Given the description of an element on the screen output the (x, y) to click on. 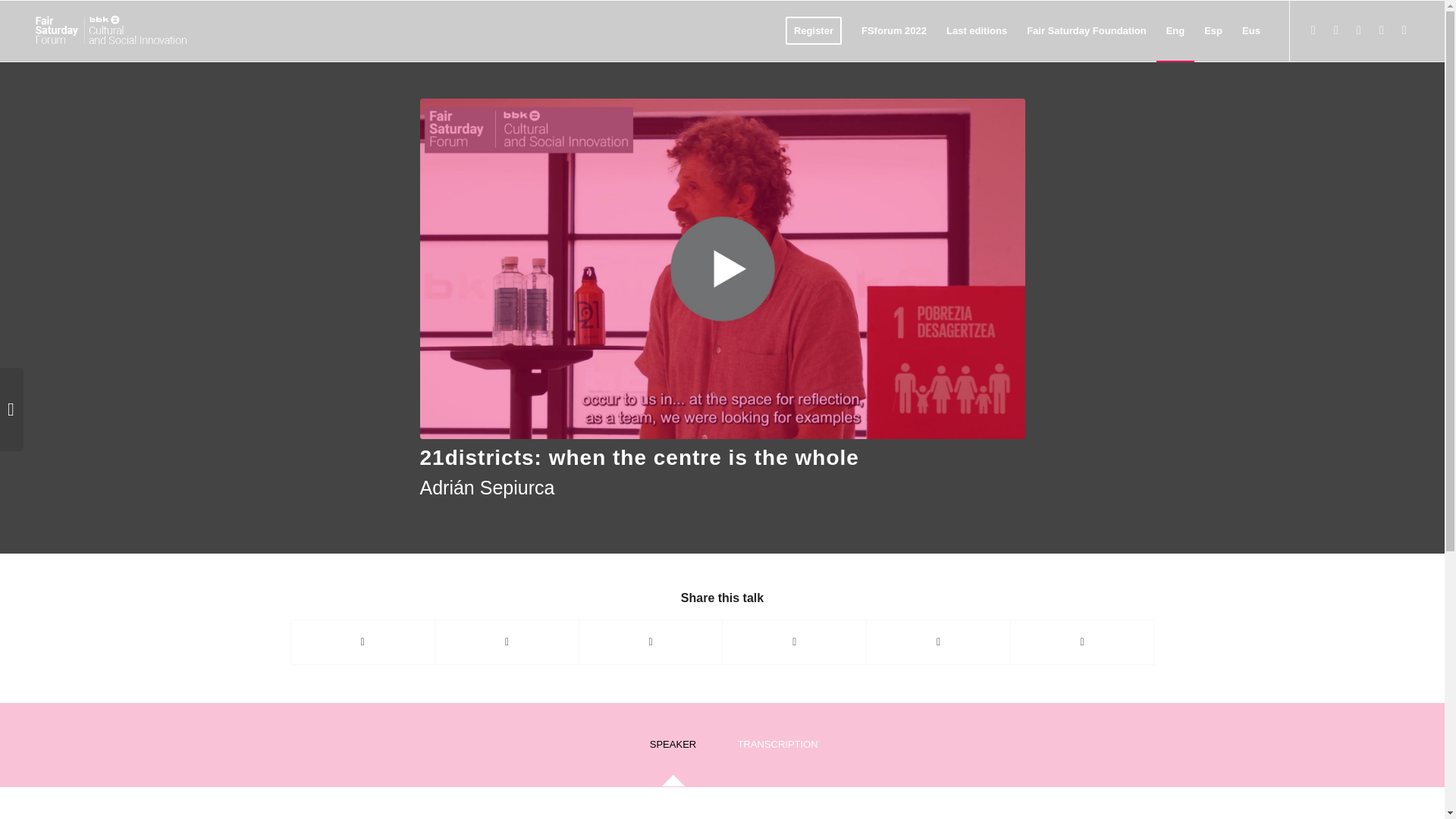
SPEAKER (672, 749)
TRANSCRIPTION (771, 749)
Eng (1175, 30)
Fair Saturday Foundation (1086, 30)
Register (813, 30)
Esp (1212, 30)
Eng (1175, 30)
FSforum 2022 (893, 30)
Facebook (1336, 29)
Last editions (976, 30)
Eus (1250, 30)
Instagram (1381, 29)
Youtube (1359, 29)
Twitter (1312, 29)
Esp (1212, 30)
